Given the description of an element on the screen output the (x, y) to click on. 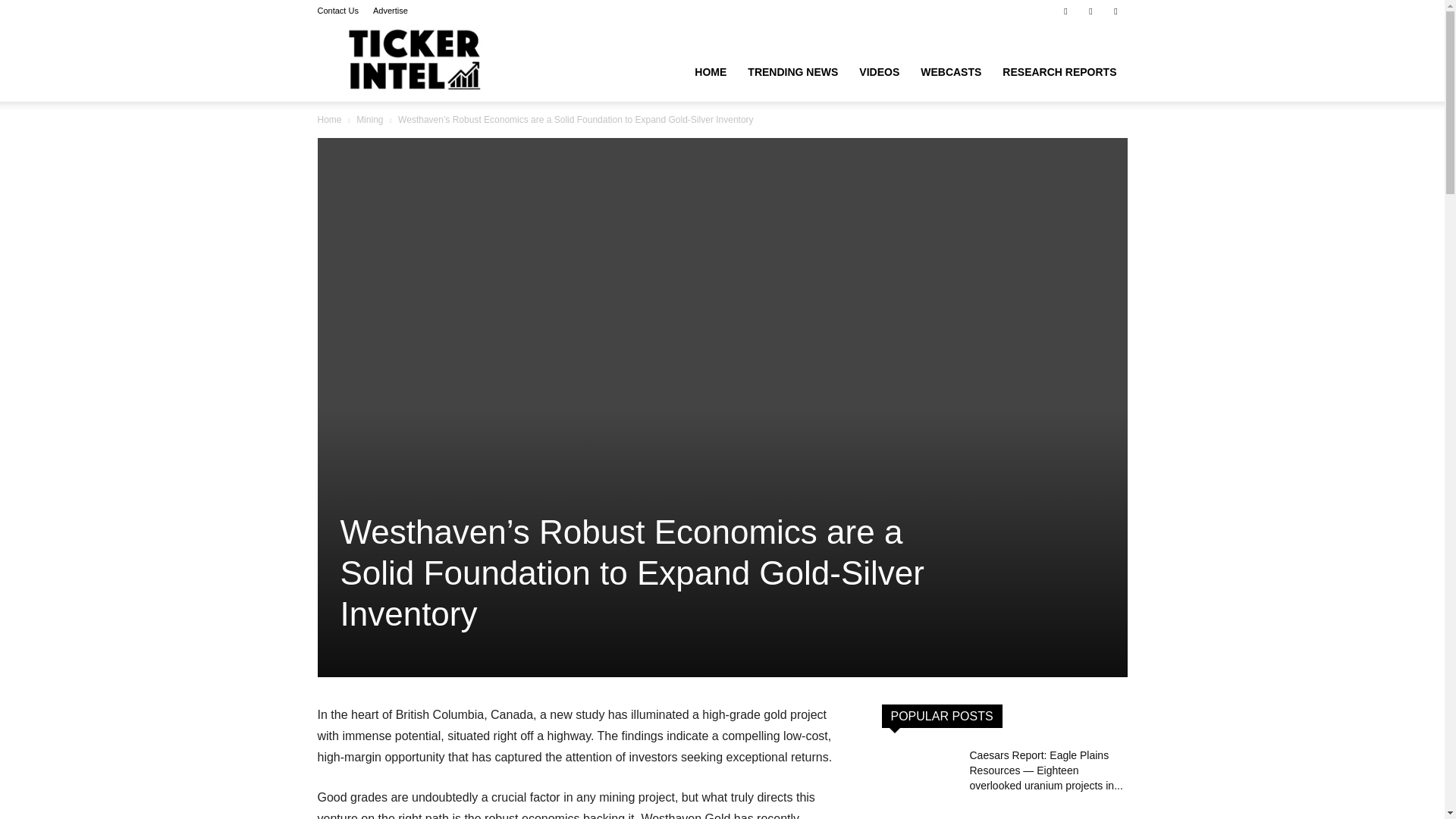
Facebook (1065, 10)
HOME (710, 71)
WEBCASTS (950, 71)
Contact Us (337, 10)
Mining (369, 119)
View all posts in Mining (369, 119)
Advertise (389, 10)
Ticker Intel (414, 61)
Youtube (1114, 10)
VIDEOS (879, 71)
